Given the description of an element on the screen output the (x, y) to click on. 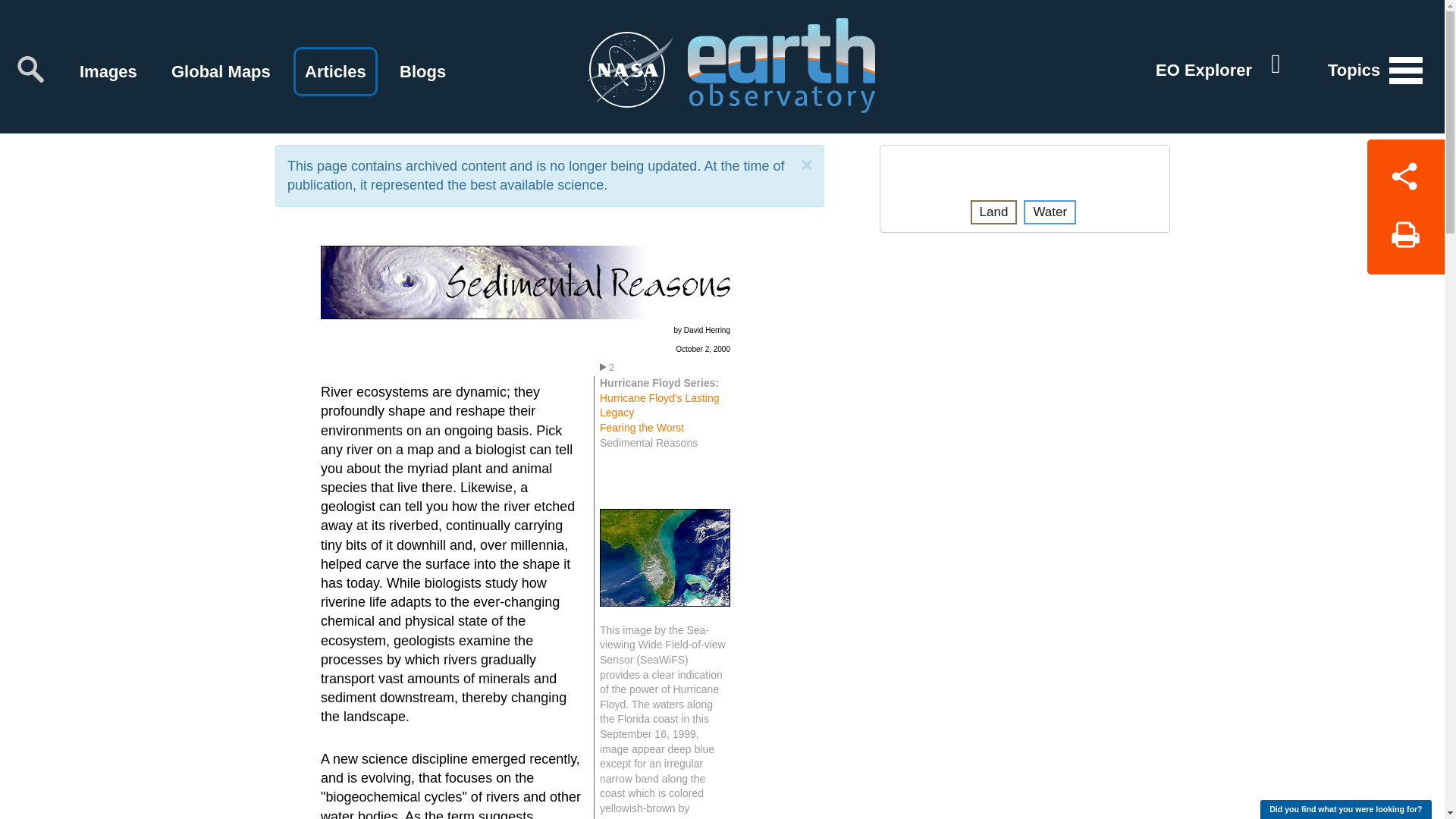
Print (1405, 240)
Share (1405, 173)
